Given the description of an element on the screen output the (x, y) to click on. 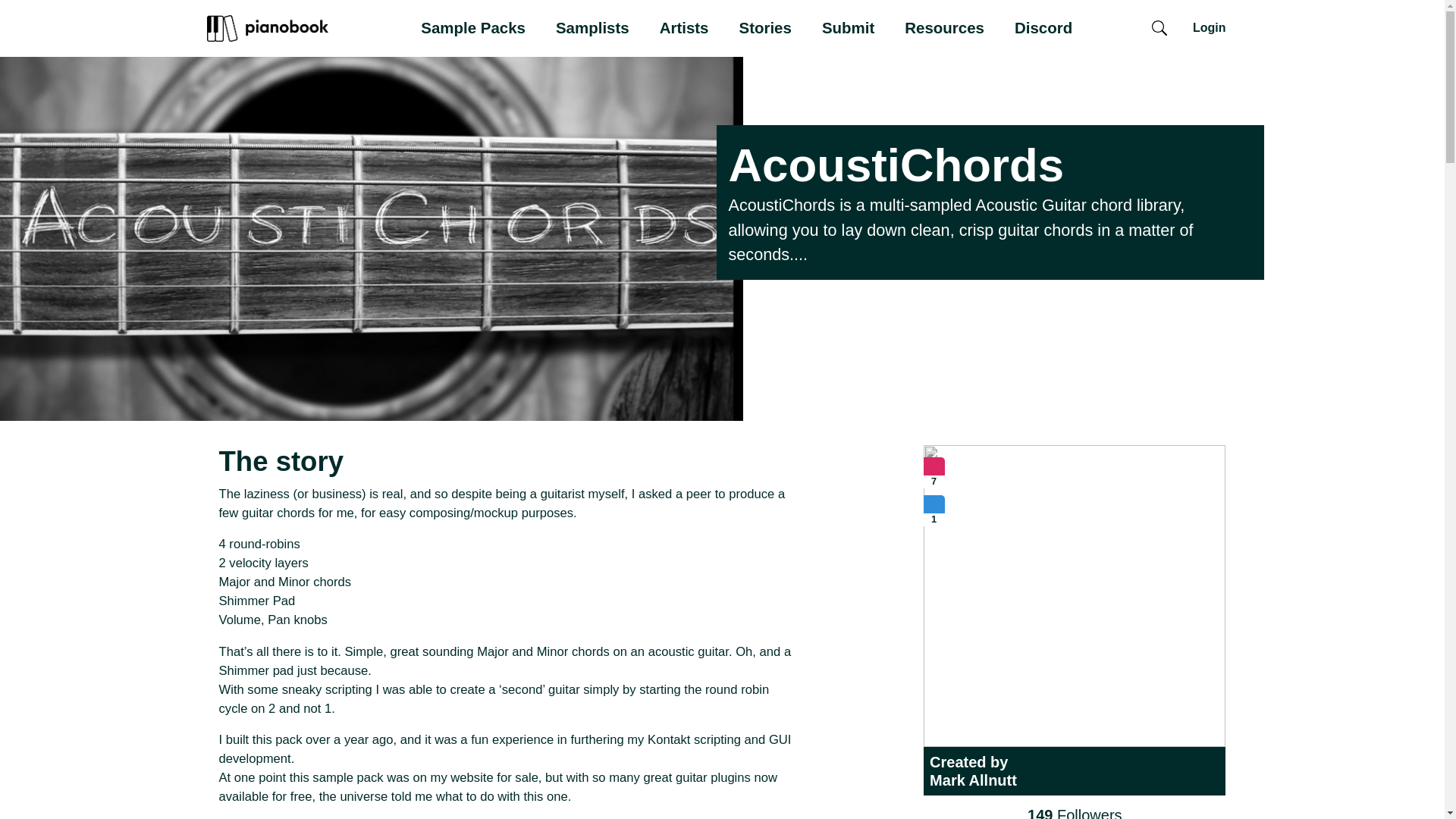
Published Collections (933, 505)
Published Sample Packs (933, 467)
Submit (847, 28)
Discord (1043, 28)
Samplists (592, 28)
Artists (683, 28)
Sample Packs (473, 28)
Resources (943, 28)
Stories (764, 28)
